Given the description of an element on the screen output the (x, y) to click on. 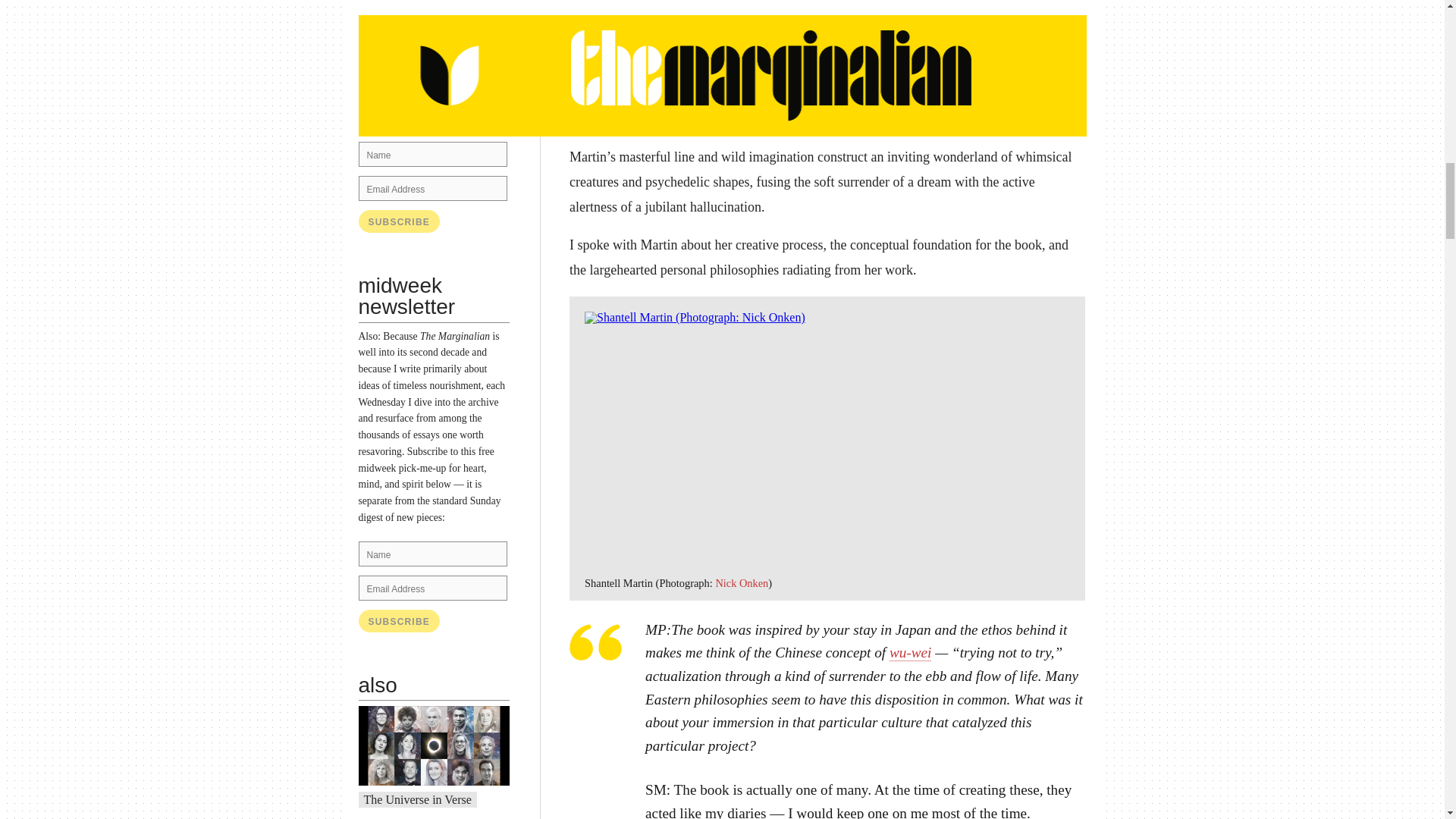
Subscribe (398, 220)
Subscribe (398, 620)
Subscribe (398, 220)
The Universe in Verse (417, 799)
Subscribe (398, 620)
example (449, 101)
